Given the description of an element on the screen output the (x, y) to click on. 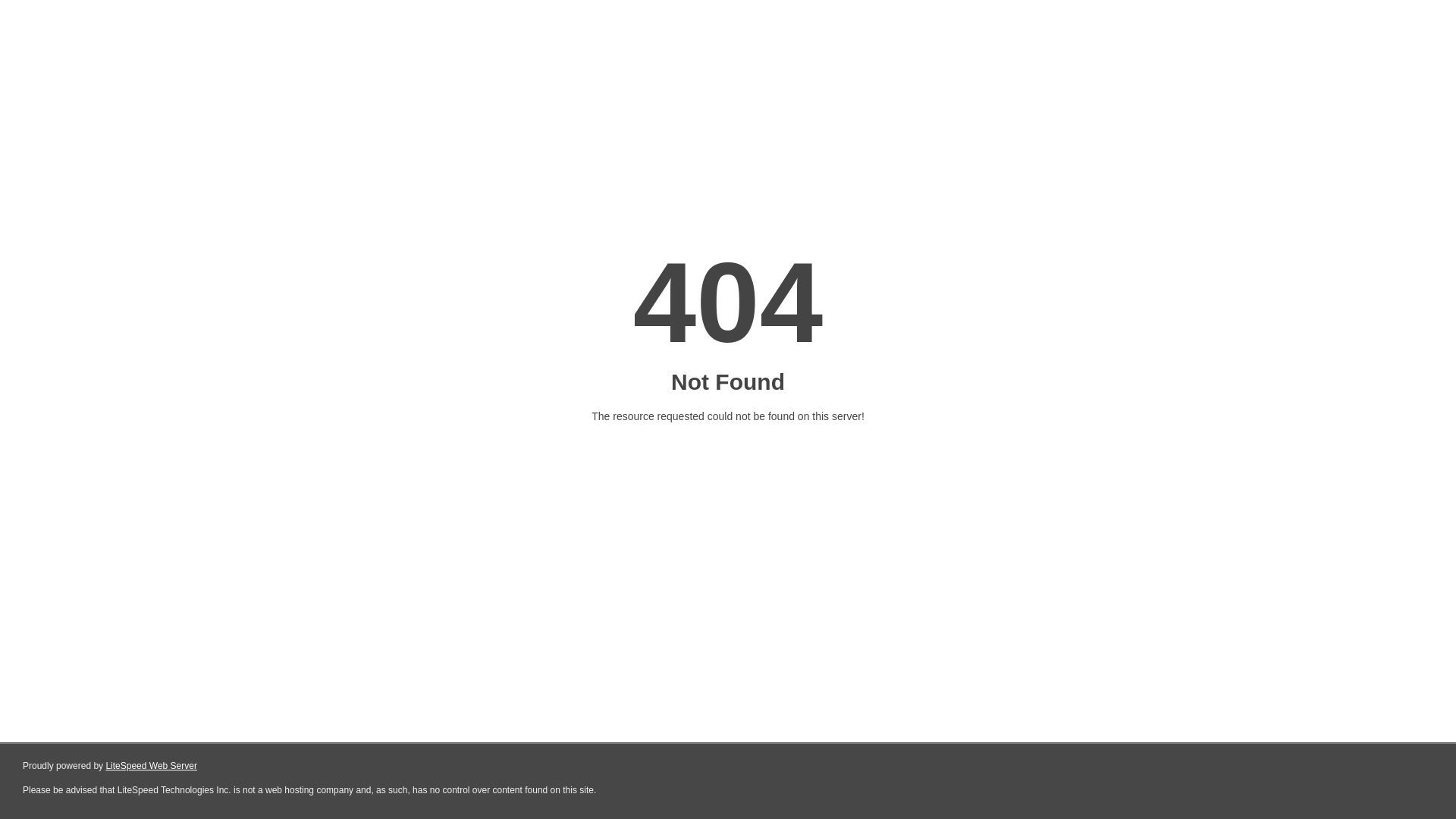
LiteSpeed Web Server Element type: text (151, 765)
